Given the description of an element on the screen output the (x, y) to click on. 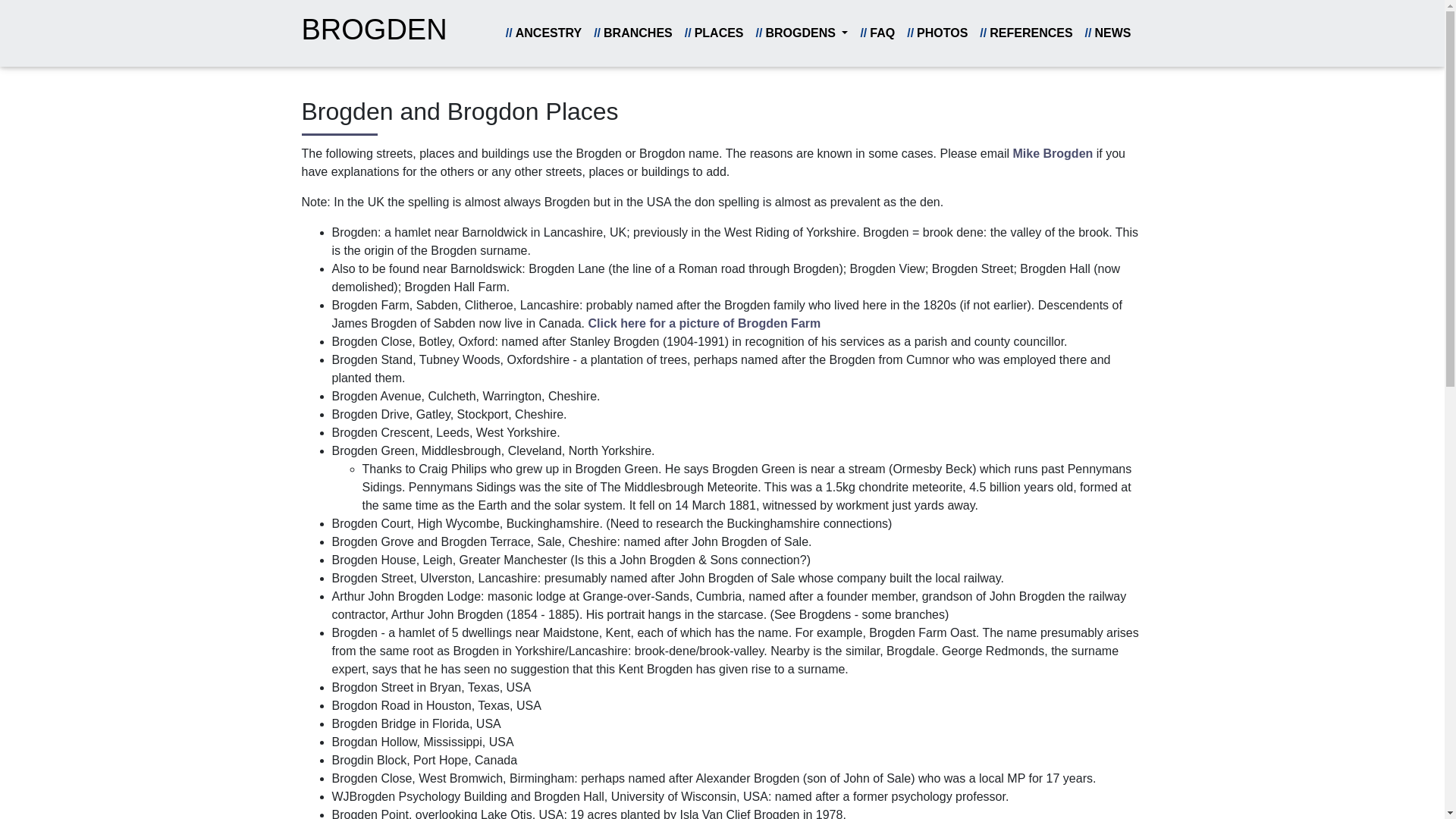
FAQ (877, 33)
Places (713, 33)
News (1107, 33)
Branches (633, 33)
BROGDEN (373, 33)
Email (1053, 153)
Click here for a picture of Brogden Farm (704, 323)
Mike Brogden (1053, 153)
References (1026, 33)
Brogden Family History (373, 33)
Photos (937, 33)
Brogden Farm (704, 323)
Ancestry (543, 33)
Brogdens (801, 33)
